Given the description of an element on the screen output the (x, y) to click on. 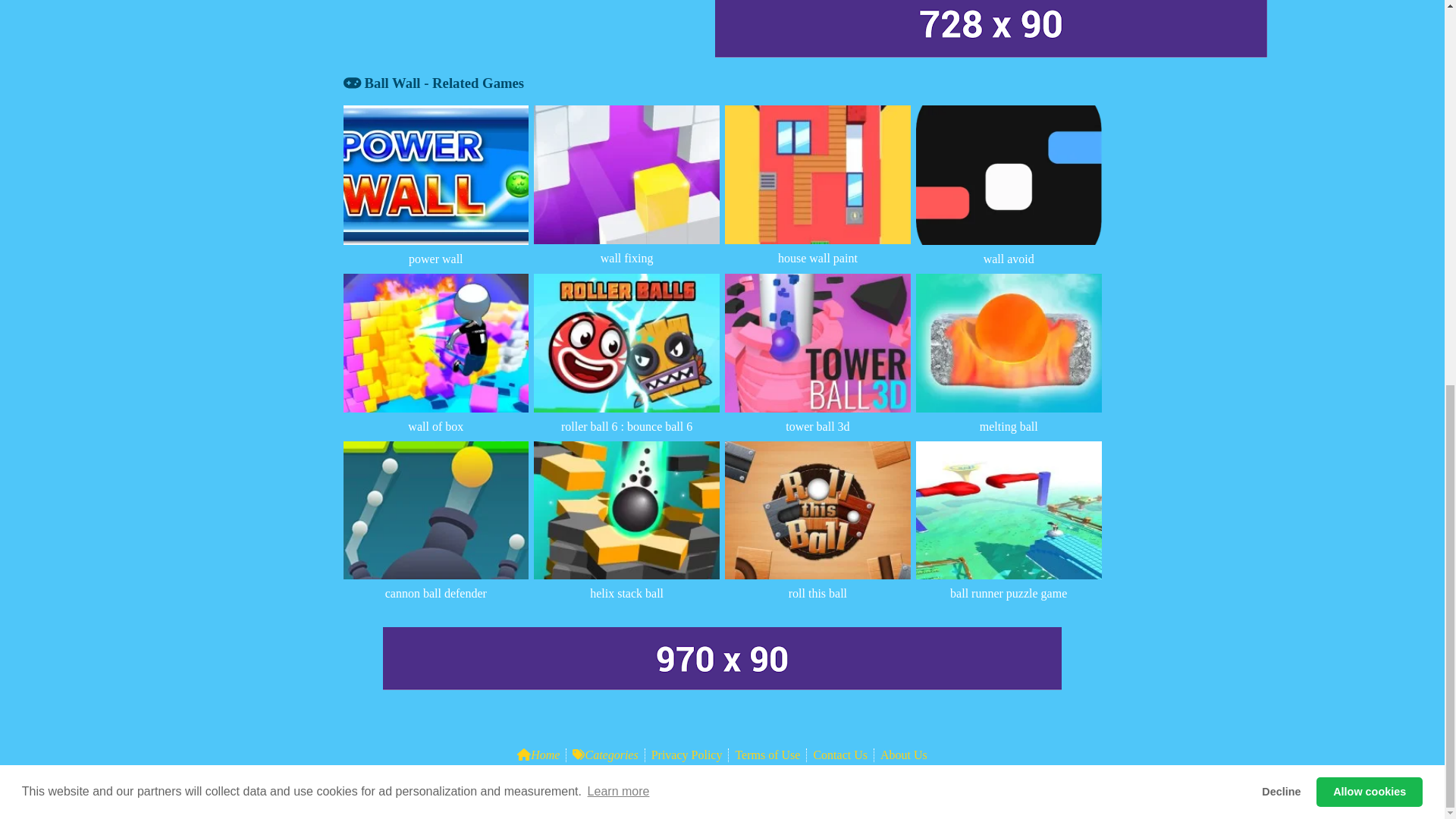
Allow cookies (1369, 66)
Decline (1281, 66)
Learn more (617, 66)
